Given the description of an element on the screen output the (x, y) to click on. 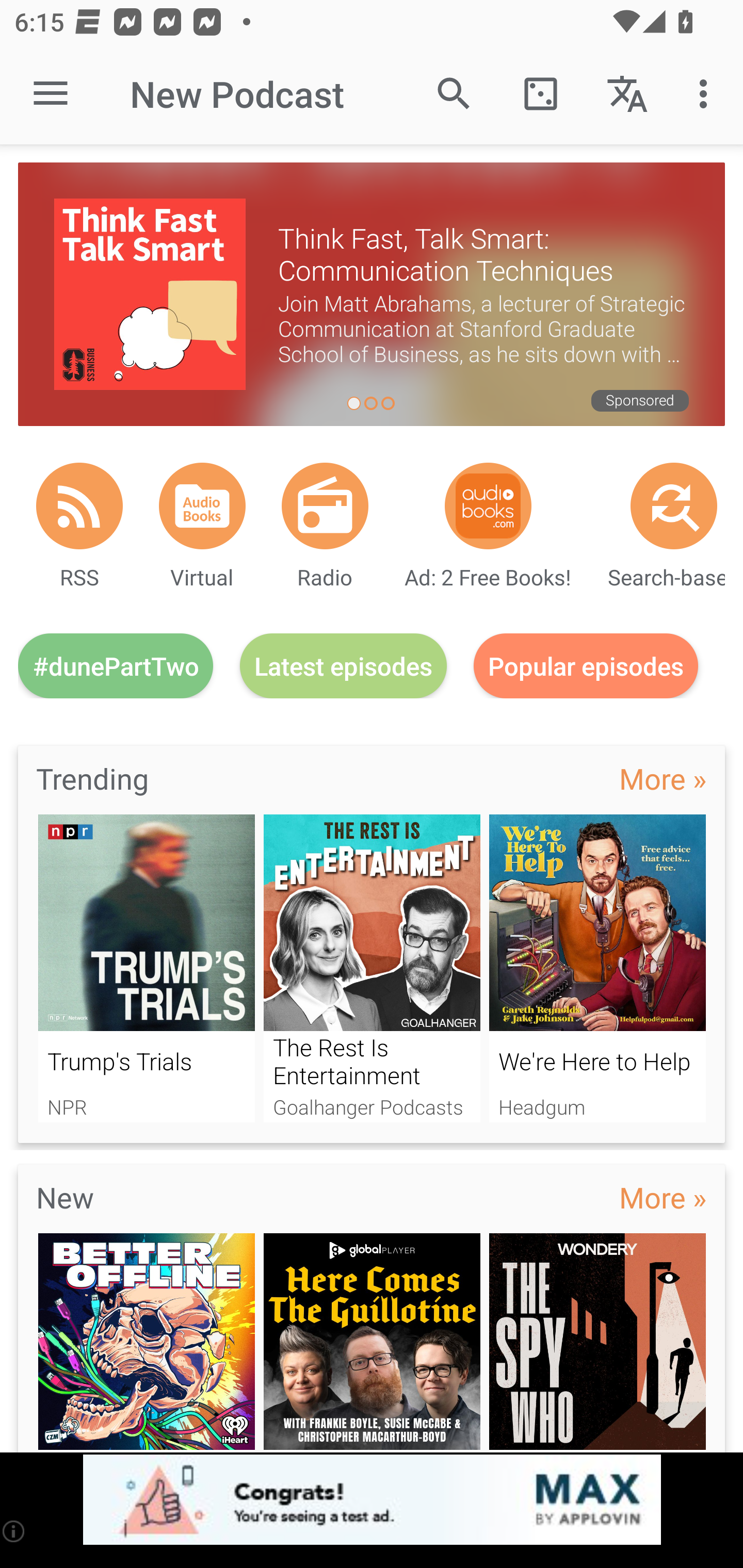
Open navigation sidebar (50, 93)
Search (453, 93)
Random pick (540, 93)
Podcast languages (626, 93)
More options (706, 93)
RSS (79, 505)
Virtual (202, 505)
Radio (324, 505)
Search-based (673, 505)
#dunePartTwo (115, 665)
Latest episodes (342, 665)
Popular episodes (586, 665)
More » (662, 778)
Trump's Trials NPR (145, 967)
The Rest Is Entertainment Goalhanger Podcasts (371, 967)
We're Here to Help Headgum (596, 967)
More » (662, 1196)
Better Offline (145, 1342)
Here Comes The Guillotine (371, 1342)
The Spy Who (596, 1342)
app-monetization (371, 1500)
(i) (14, 1531)
